Given the description of an element on the screen output the (x, y) to click on. 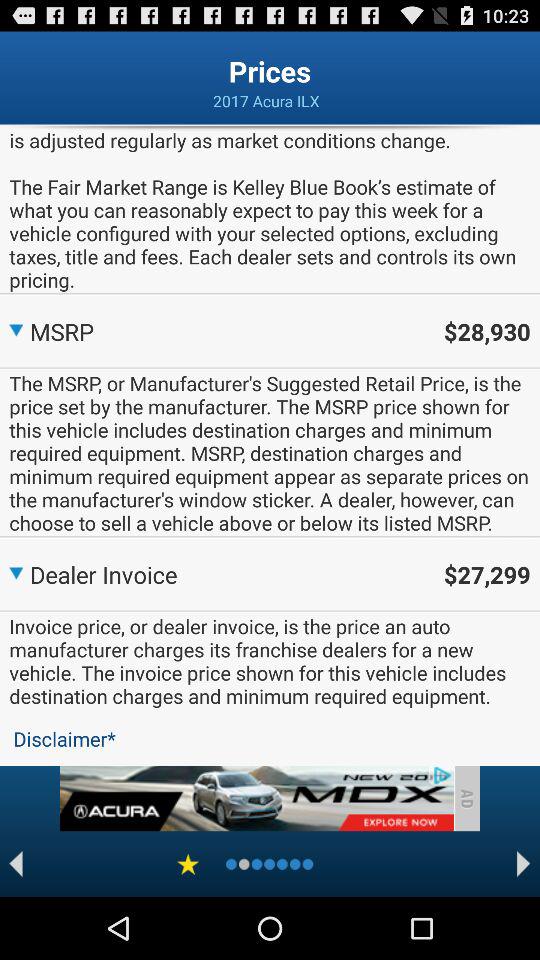
select advertisement (256, 798)
